Given the description of an element on the screen output the (x, y) to click on. 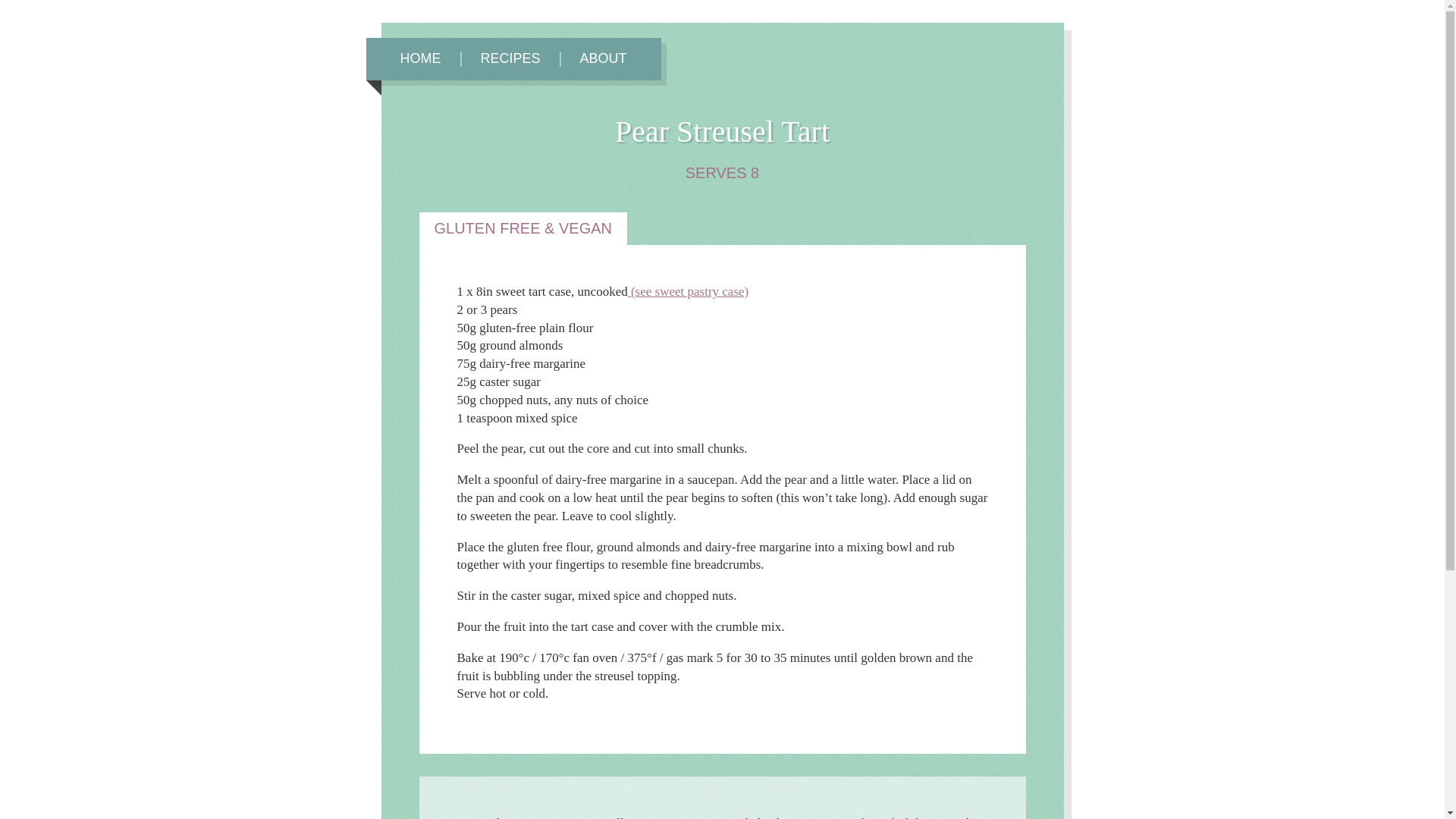
ABOUT (603, 58)
RECIPES (510, 58)
HOME (420, 58)
